Given the description of an element on the screen output the (x, y) to click on. 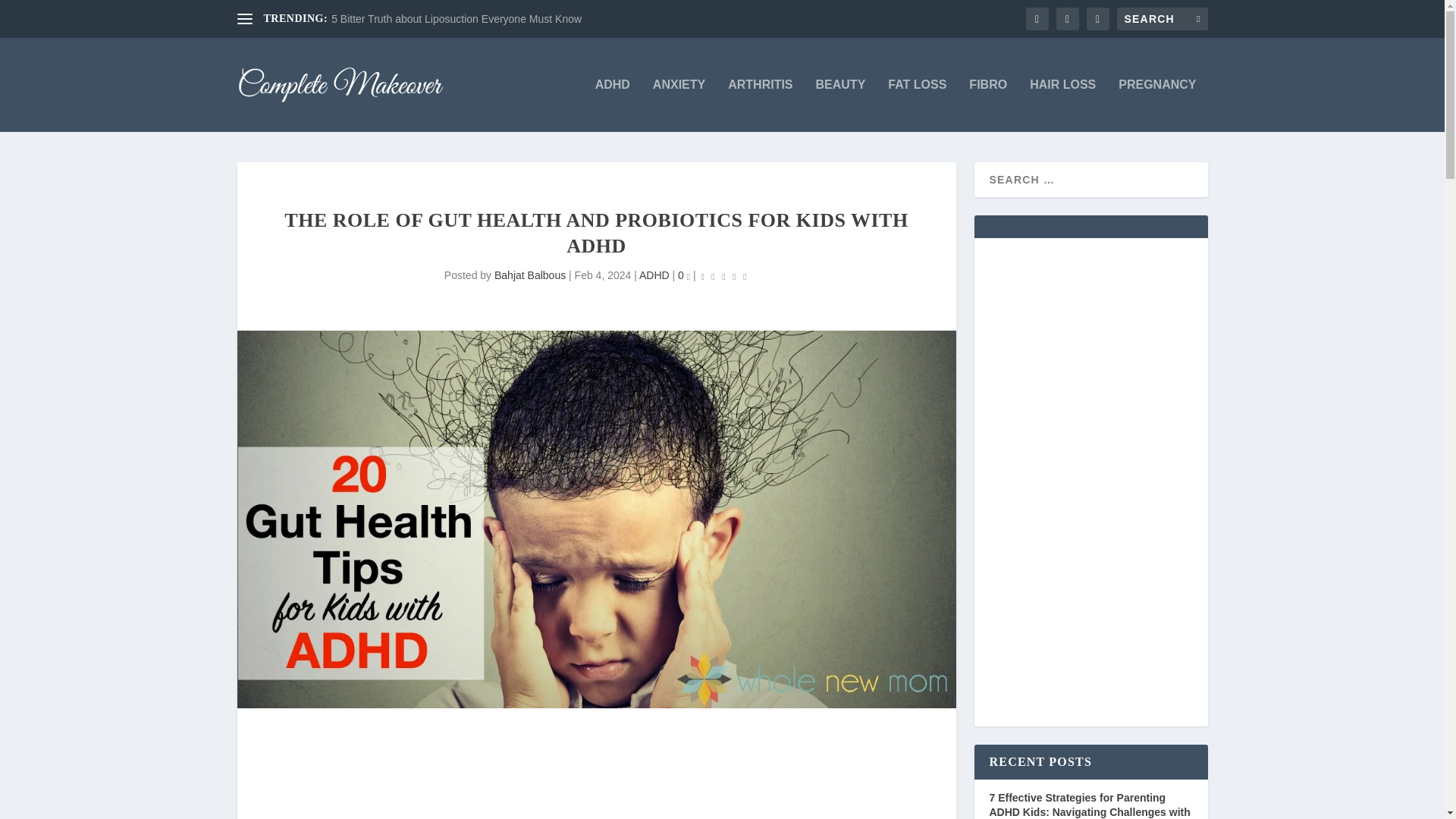
ADHD (612, 104)
PREGNANCY (1156, 104)
ANXIETY (678, 104)
Posts by Bahjat Balbous (530, 275)
Advertisement (596, 778)
Search for: (1161, 18)
FAT LOSS (917, 104)
ADHD (654, 275)
HAIR LOSS (1062, 104)
Rating: 0.00 (723, 275)
ARTHRITIS (760, 104)
comment count (688, 276)
5 Bitter Truth about Liposuction Everyone Must Know (455, 19)
Bahjat Balbous (530, 275)
BEAUTY (840, 104)
